Given the description of an element on the screen output the (x, y) to click on. 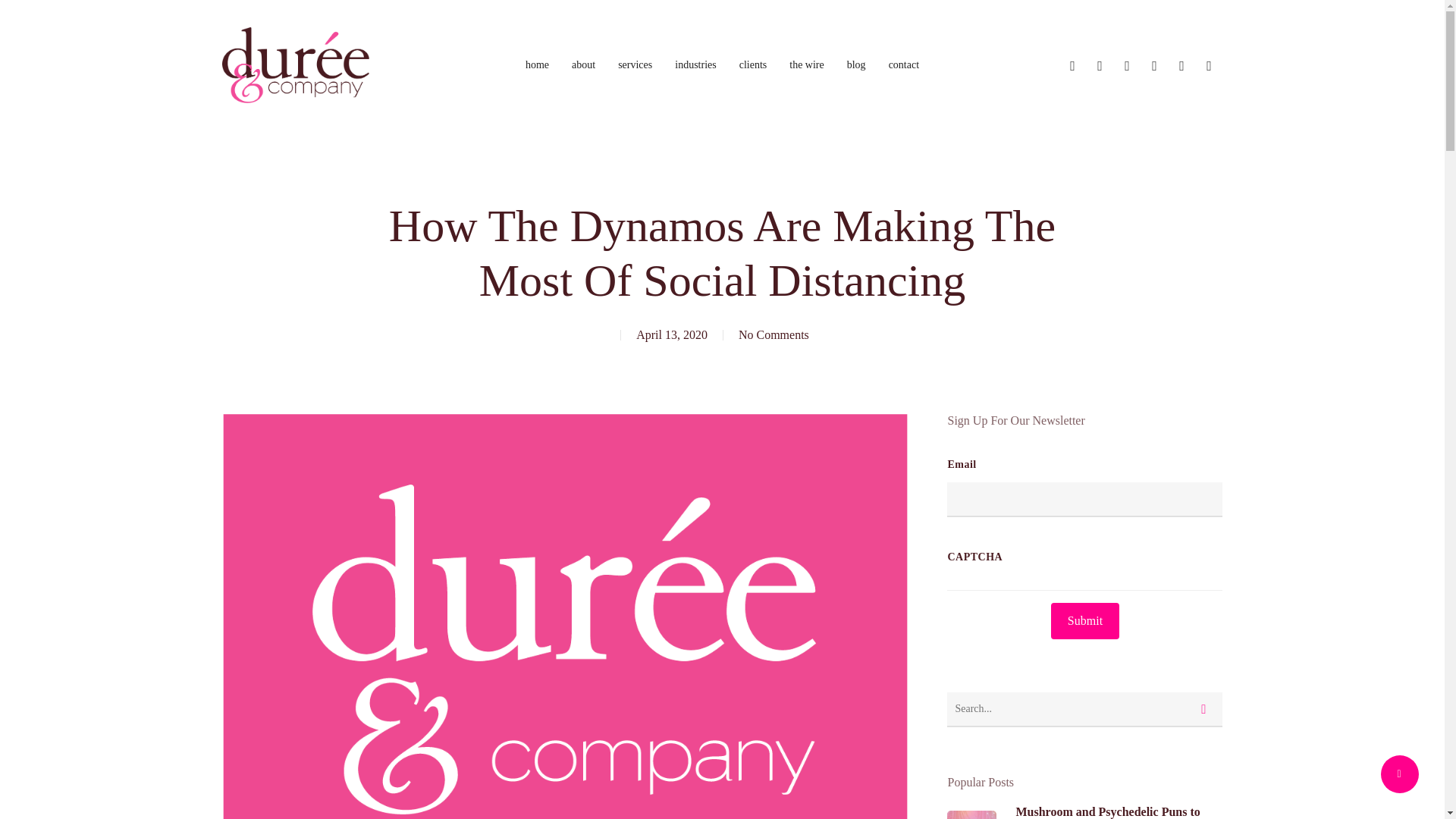
home (536, 64)
services (634, 64)
Submit (1085, 620)
industries (695, 64)
Search for: (1085, 709)
about (583, 64)
